Given the description of an element on the screen output the (x, y) to click on. 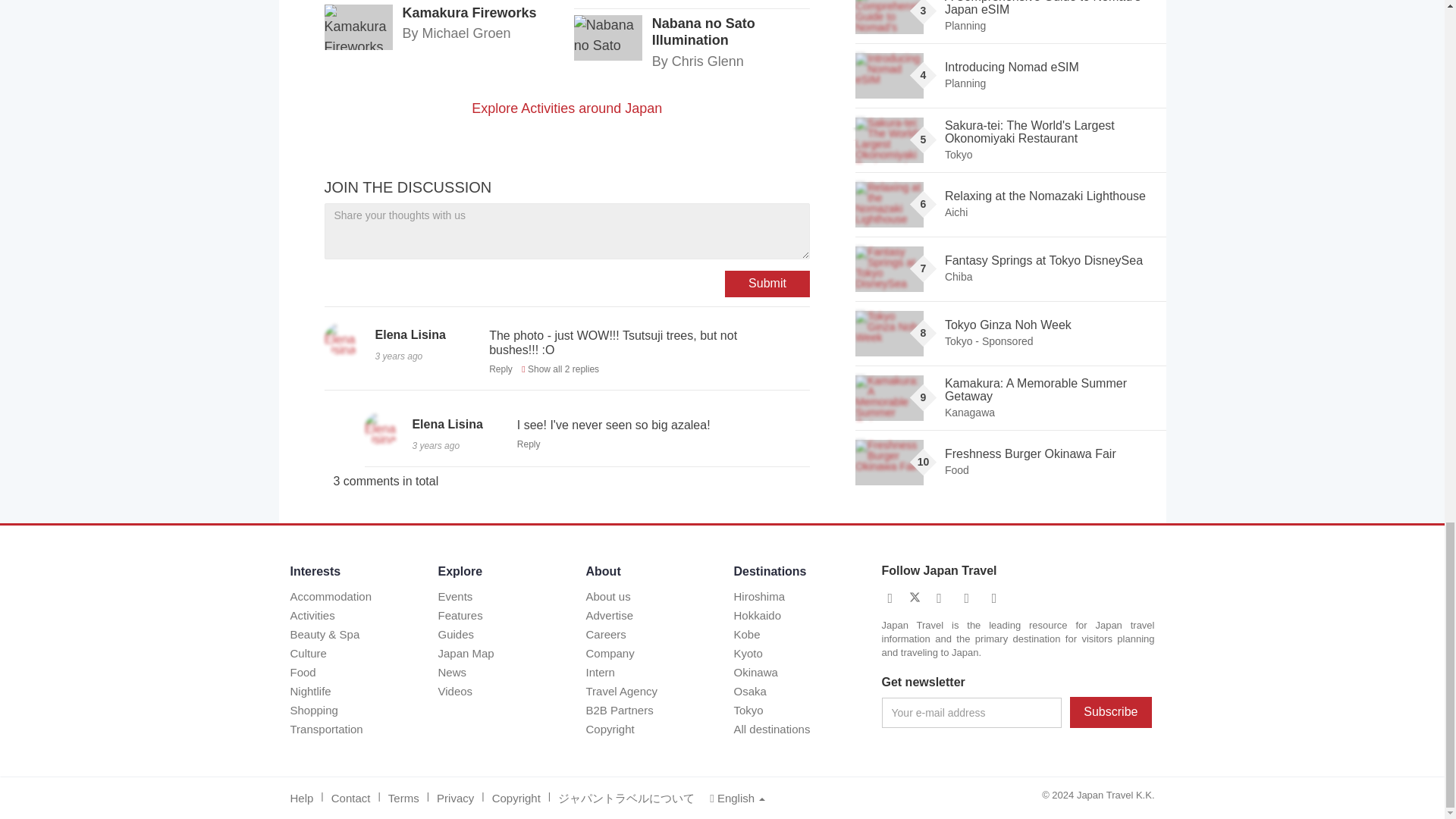
Introducing Nomad eSIM (889, 75)
Relaxing at the Nomazaki Lighthouse (889, 204)
Fantasy Springs at Tokyo DisneySea (889, 268)
Subscribe (1110, 712)
Sakura-tei: The World's Largest Okonomiyaki Restaurant (889, 139)
